Given the description of an element on the screen output the (x, y) to click on. 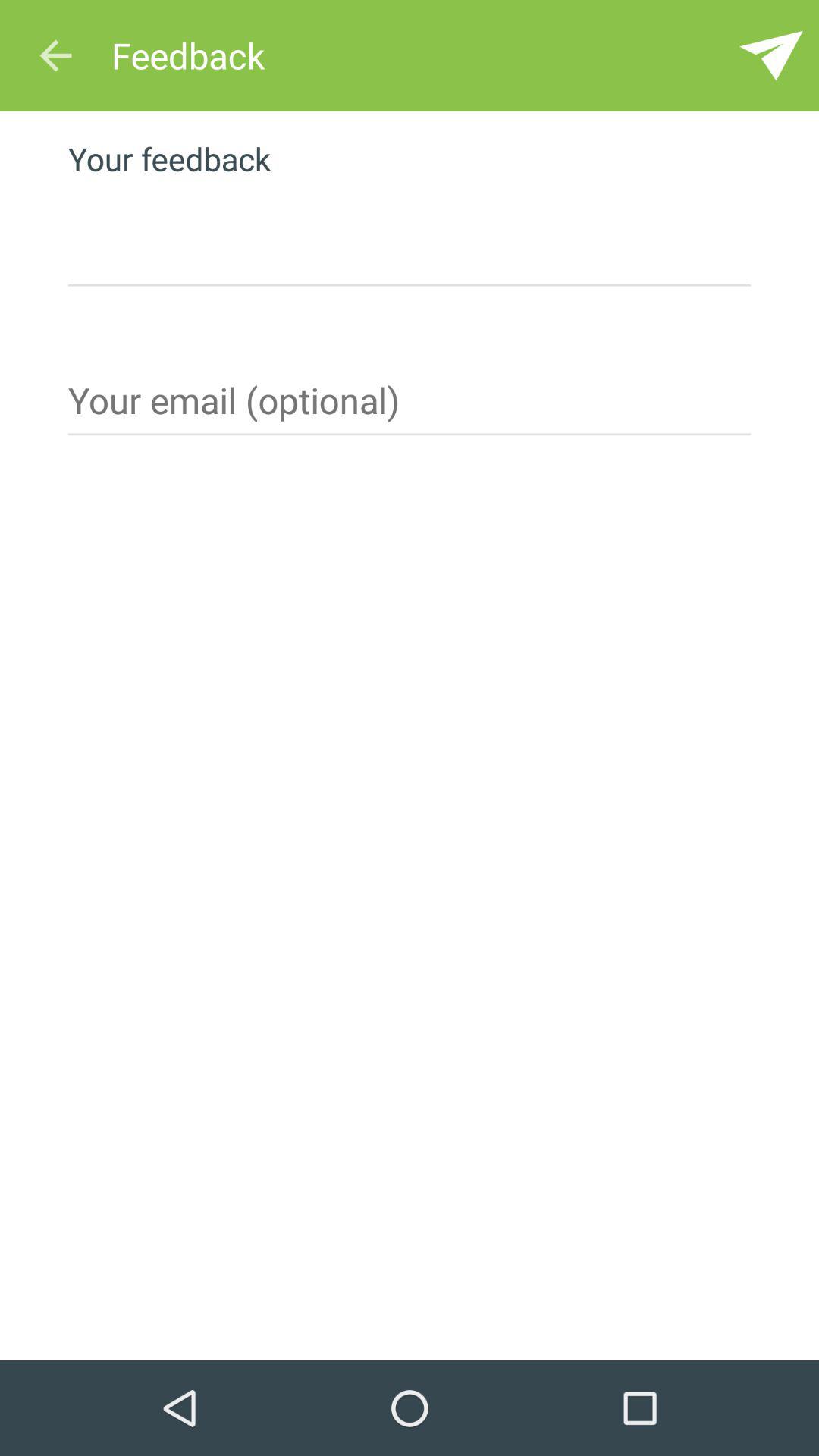
enter optional email here (409, 406)
